Given the description of an element on the screen output the (x, y) to click on. 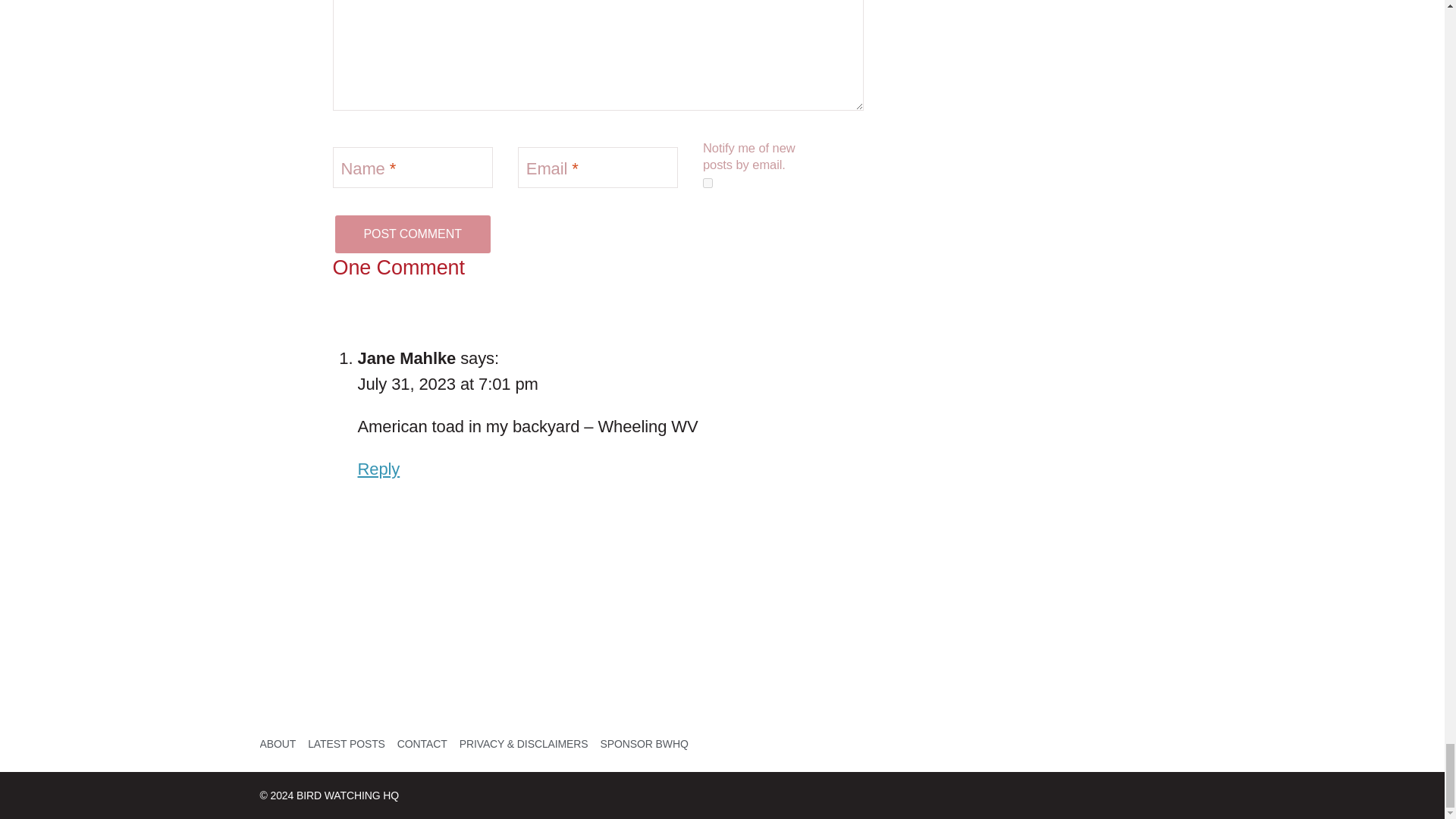
subscribe (708, 183)
Post Comment (411, 233)
July 31, 2023 at 7:01 pm (448, 383)
Post Comment (411, 233)
Reply (379, 468)
